Given the description of an element on the screen output the (x, y) to click on. 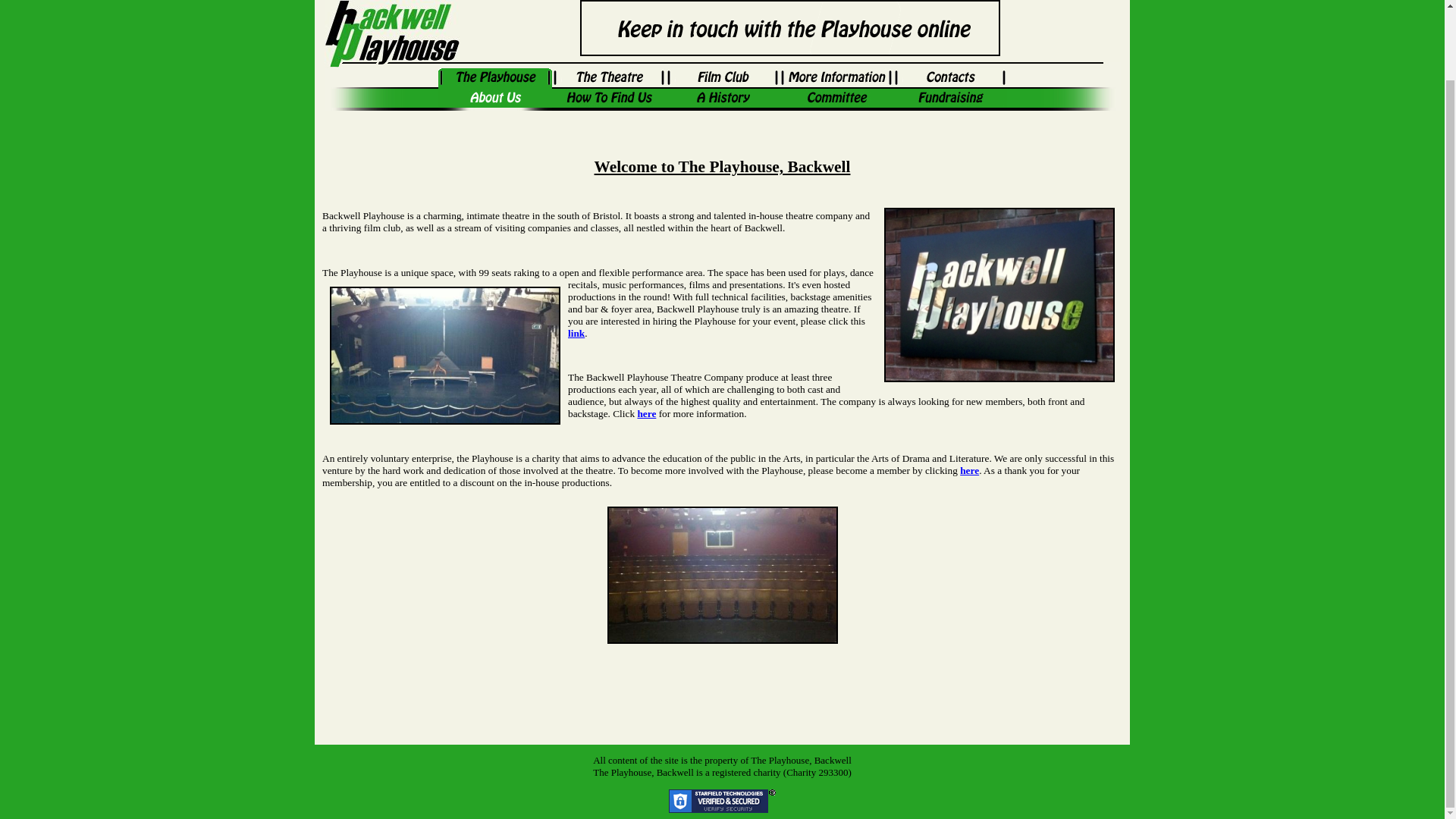
link (576, 333)
here (968, 470)
here (646, 413)
